Given the description of an element on the screen output the (x, y) to click on. 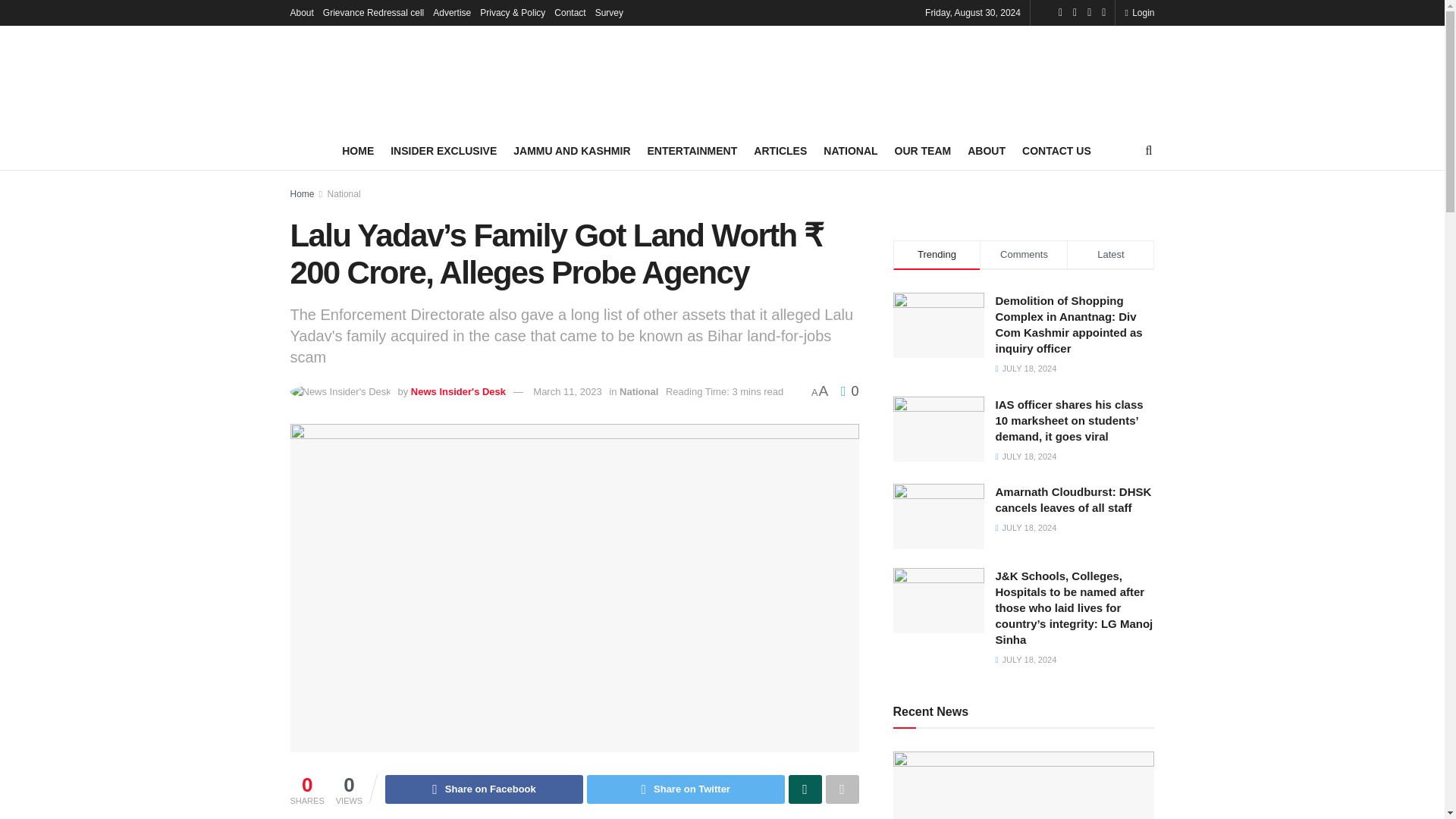
JAMMU AND KASHMIR (571, 150)
Login (1139, 12)
Grievance Redressal cell (373, 12)
Advertise (451, 12)
About (301, 12)
HOME (358, 150)
ENTERTAINMENT (692, 150)
Survey (609, 12)
INSIDER EXCLUSIVE (443, 150)
Contact (569, 12)
